Given the description of an element on the screen output the (x, y) to click on. 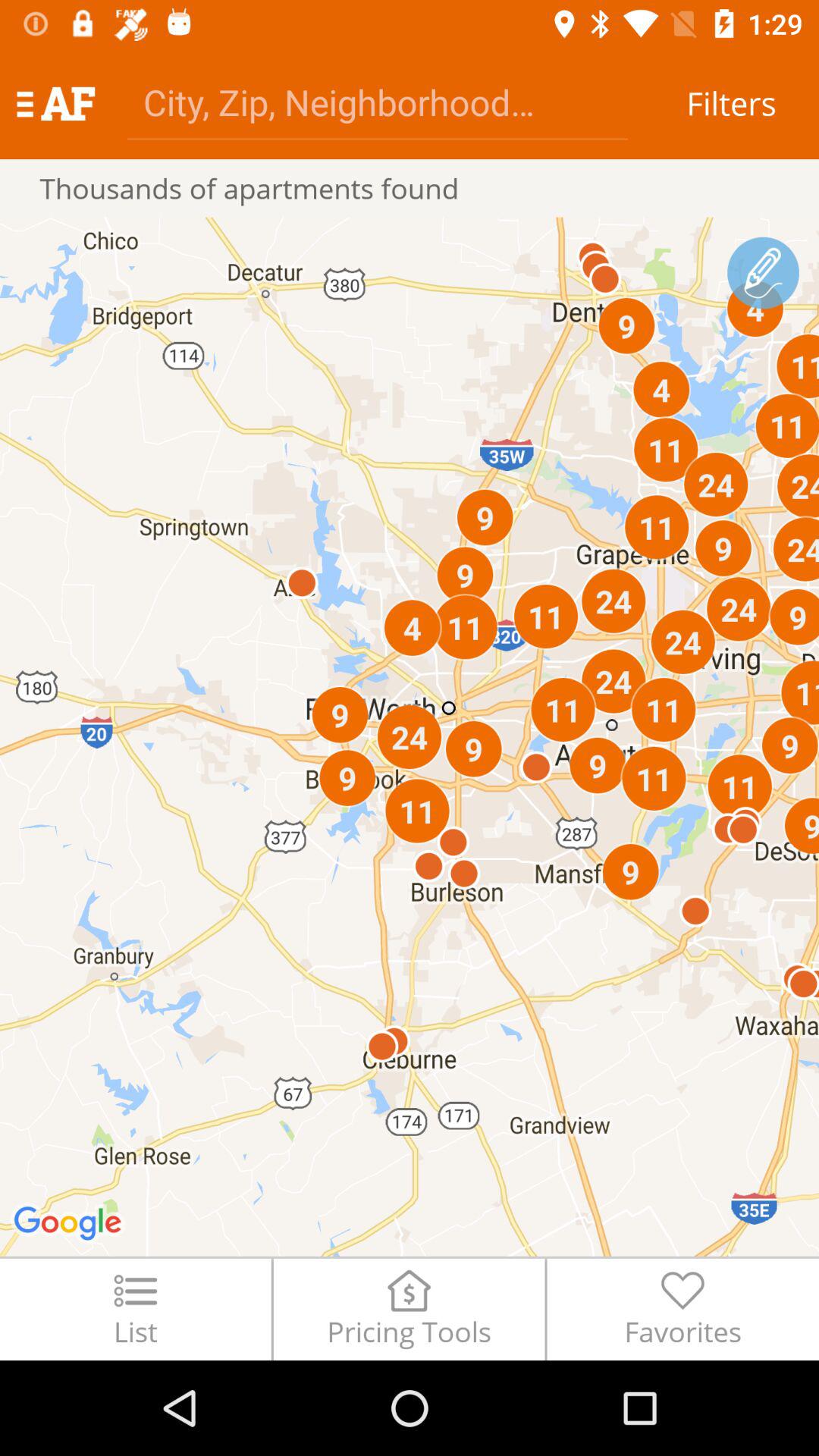
launch the list (135, 1309)
